Given the description of an element on the screen output the (x, y) to click on. 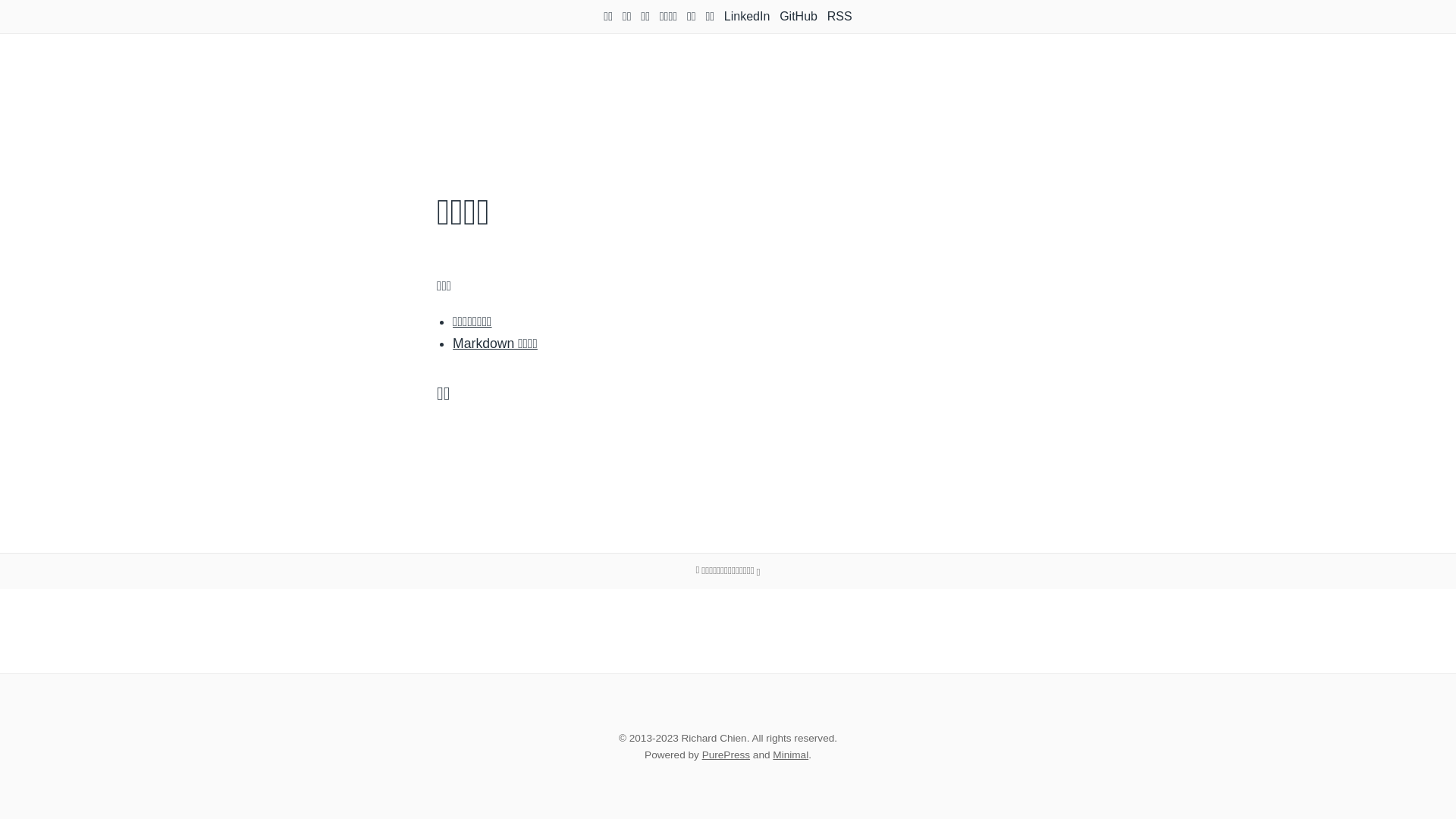
RSS Element type: text (839, 15)
PurePress Element type: text (725, 754)
Minimal Element type: text (790, 754)
GitHub Element type: text (798, 15)
LinkedIn Element type: text (747, 15)
